Given the description of an element on the screen output the (x, y) to click on. 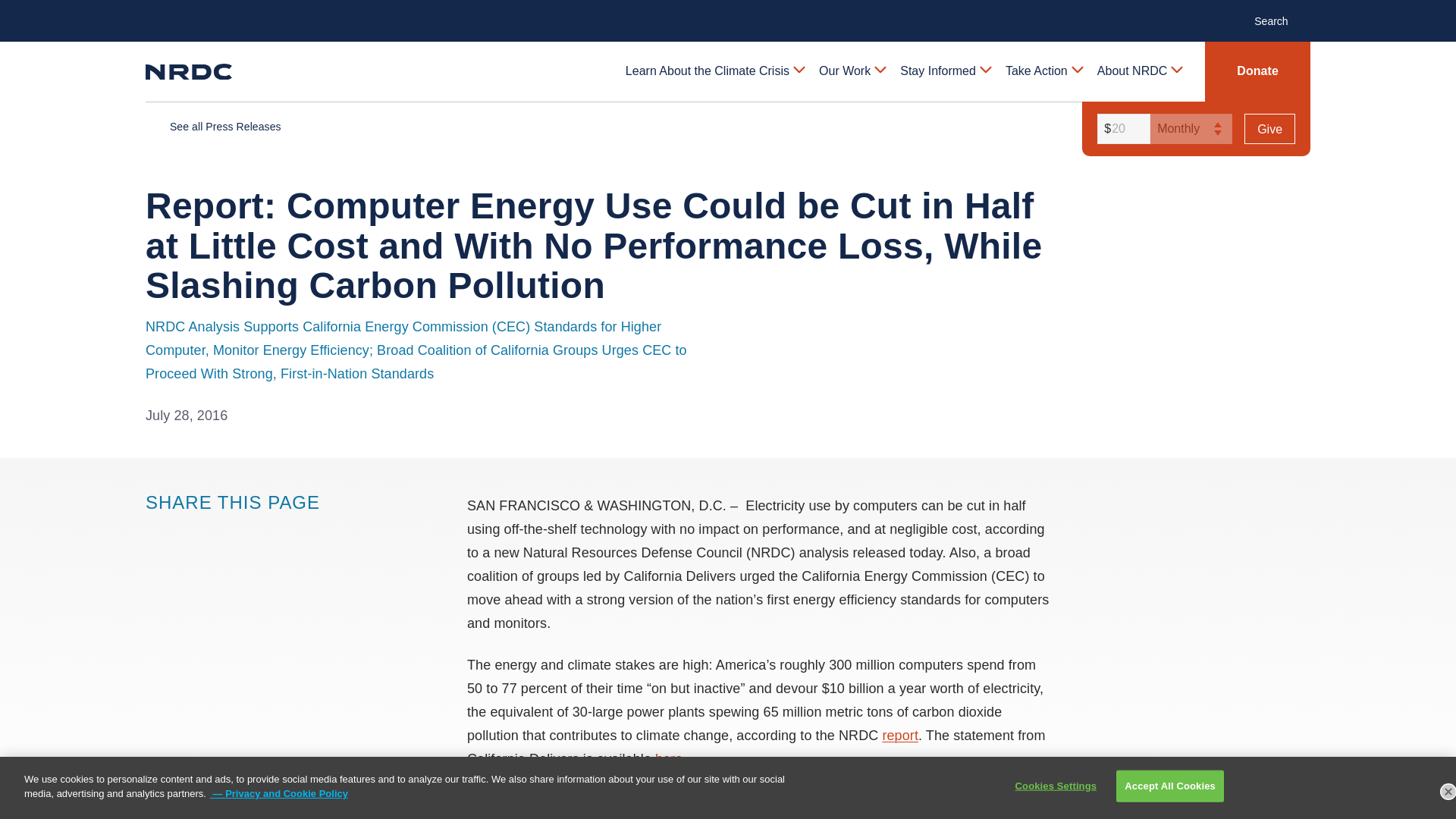
Share this page block (156, 531)
Skip to main content (727, 12)
Learn About the Climate Crisis (714, 71)
Share this page block (186, 531)
Search (1278, 19)
Our Work (850, 71)
Stay Informed (944, 71)
Share this page block (216, 531)
20 (1120, 128)
